Given the description of an element on the screen output the (x, y) to click on. 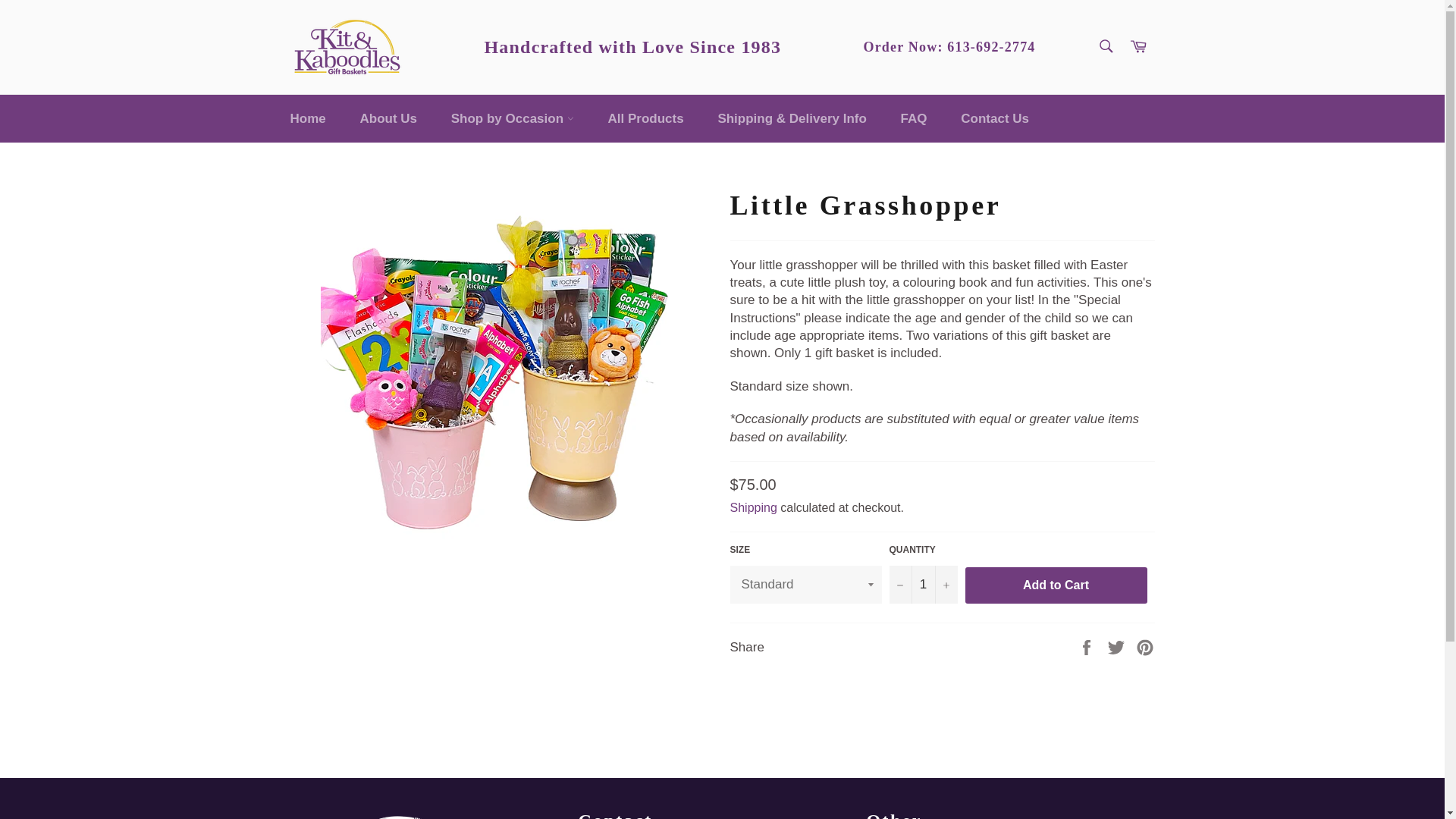
Home (307, 118)
Search (1104, 46)
Pin on Pinterest (1144, 646)
Tweet on Twitter (1117, 646)
Share on Facebook (1088, 646)
1 (922, 583)
Shop by Occasion (512, 118)
Cart (1138, 47)
About Us (387, 118)
